Given the description of an element on the screen output the (x, y) to click on. 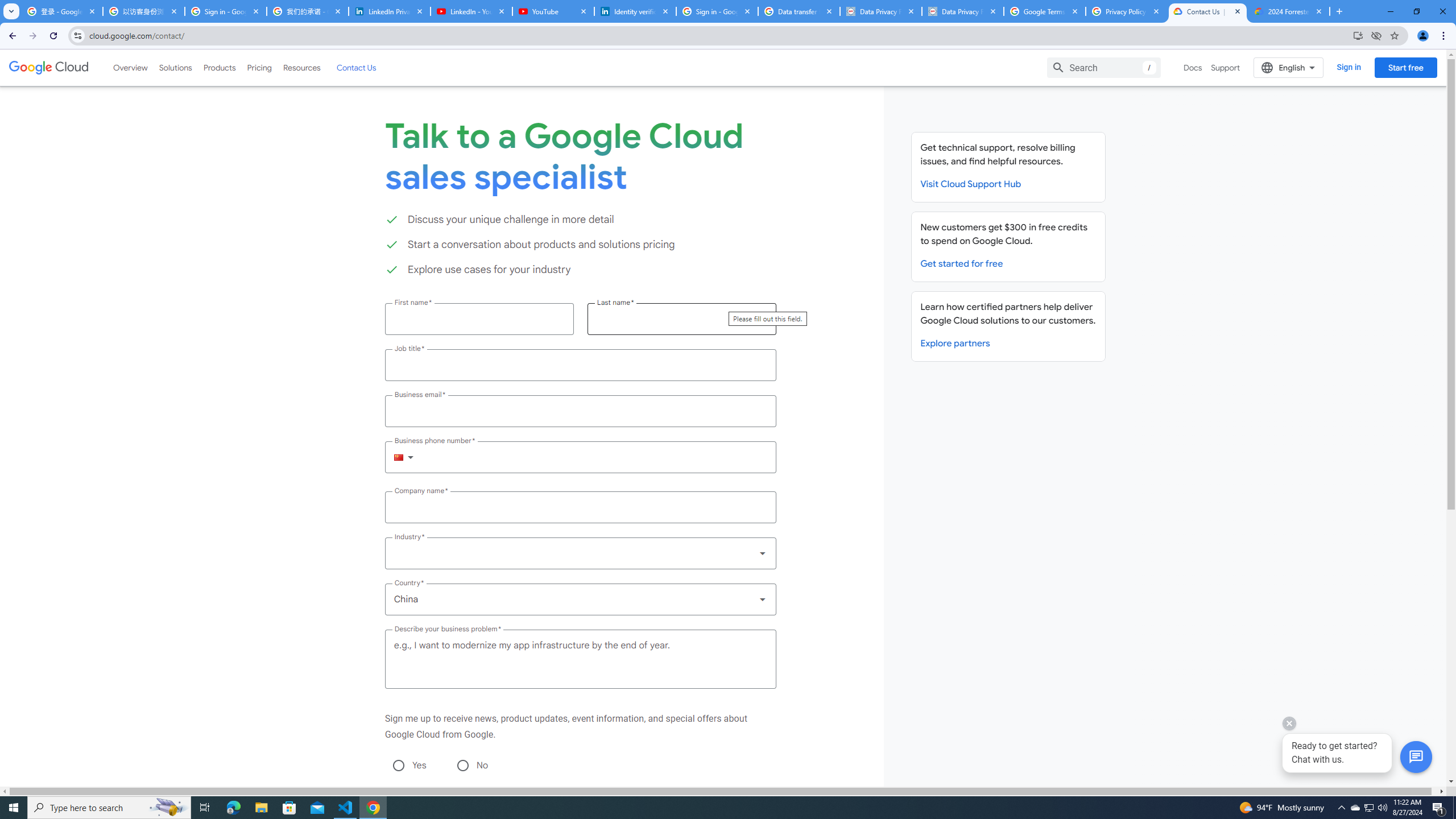
Industry * (580, 553)
Solutions (175, 67)
Sign in - Google Accounts (225, 11)
English (1288, 67)
First name * (478, 318)
Data Privacy Framework (880, 11)
Business phone number * (594, 457)
